Given the description of an element on the screen output the (x, y) to click on. 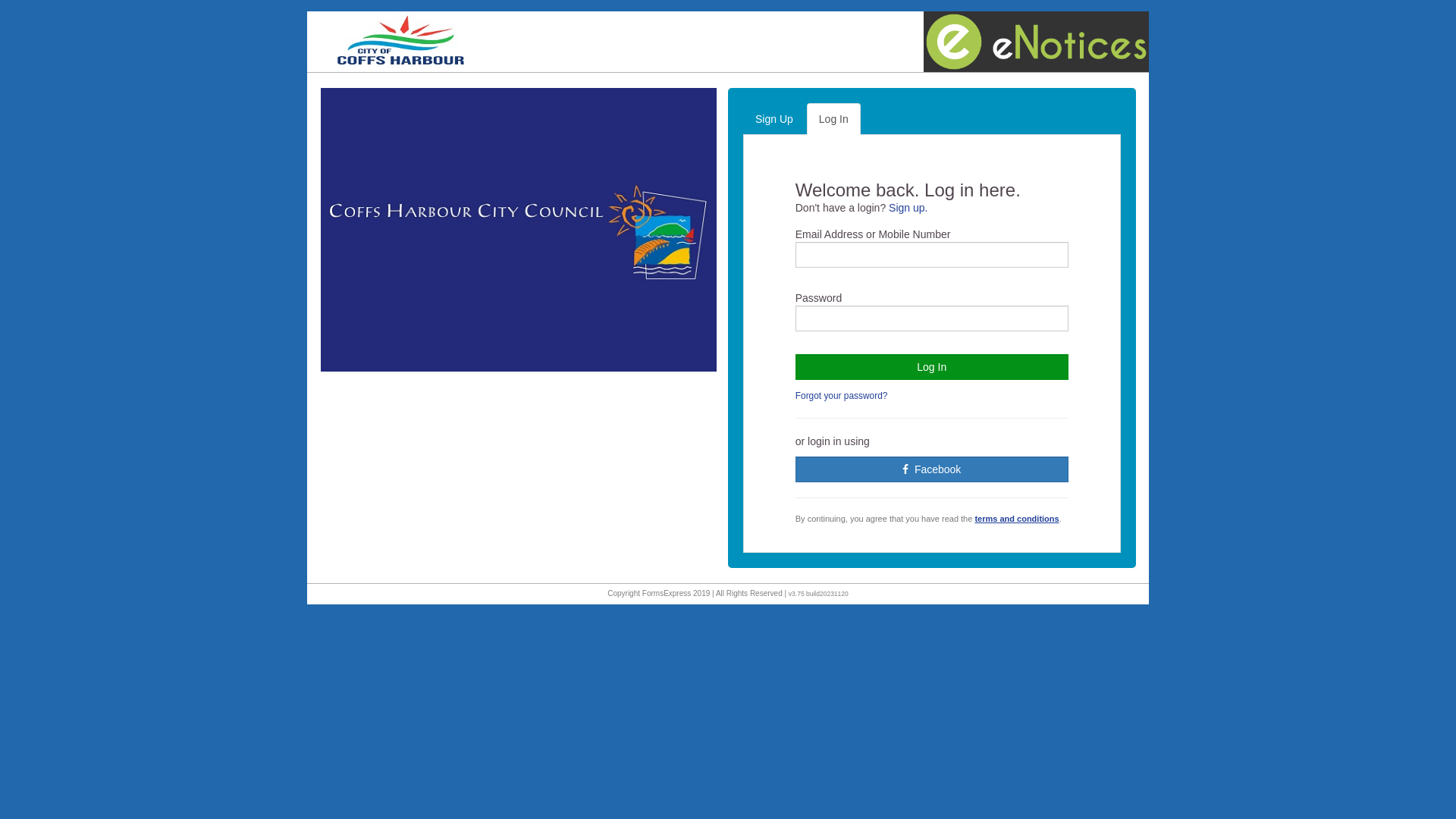
terms and conditions Element type: text (1016, 518)
Forgot your password? Element type: text (841, 395)
Log In Element type: text (931, 366)
Sign Up Element type: text (774, 118)
Sign up. Element type: text (907, 207)
Log In Element type: text (833, 118)
  Facebook Element type: text (931, 469)
